Given the description of an element on the screen output the (x, y) to click on. 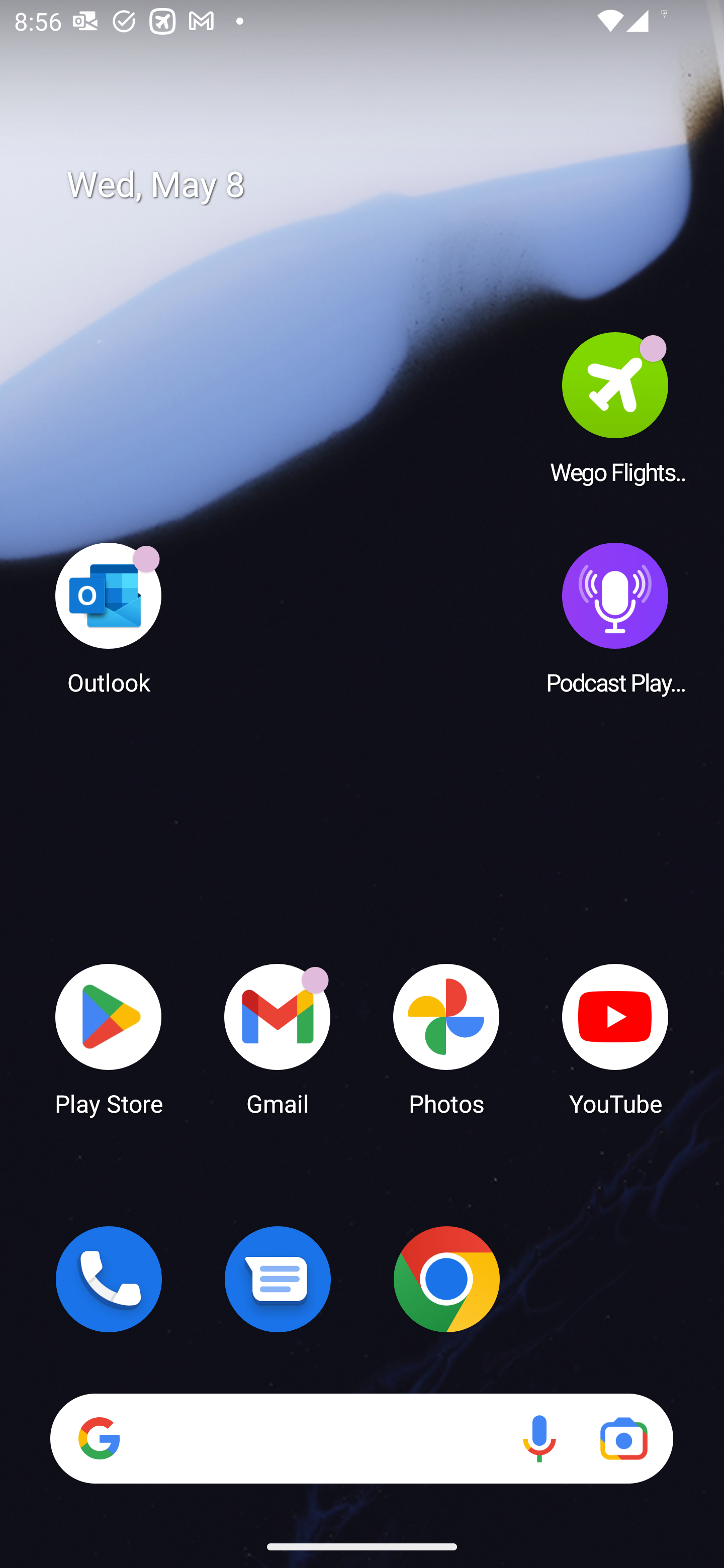
Wed, May 8 (375, 184)
Outlook Outlook has 3 notifications (108, 617)
Podcast Player (615, 617)
Play Store (108, 1038)
Gmail Gmail has 17 notifications (277, 1038)
Photos (445, 1038)
YouTube (615, 1038)
Phone (108, 1279)
Messages (277, 1279)
Chrome (446, 1279)
Search Voice search Google Lens (361, 1438)
Voice search (539, 1438)
Google Lens (623, 1438)
